Given the description of an element on the screen output the (x, y) to click on. 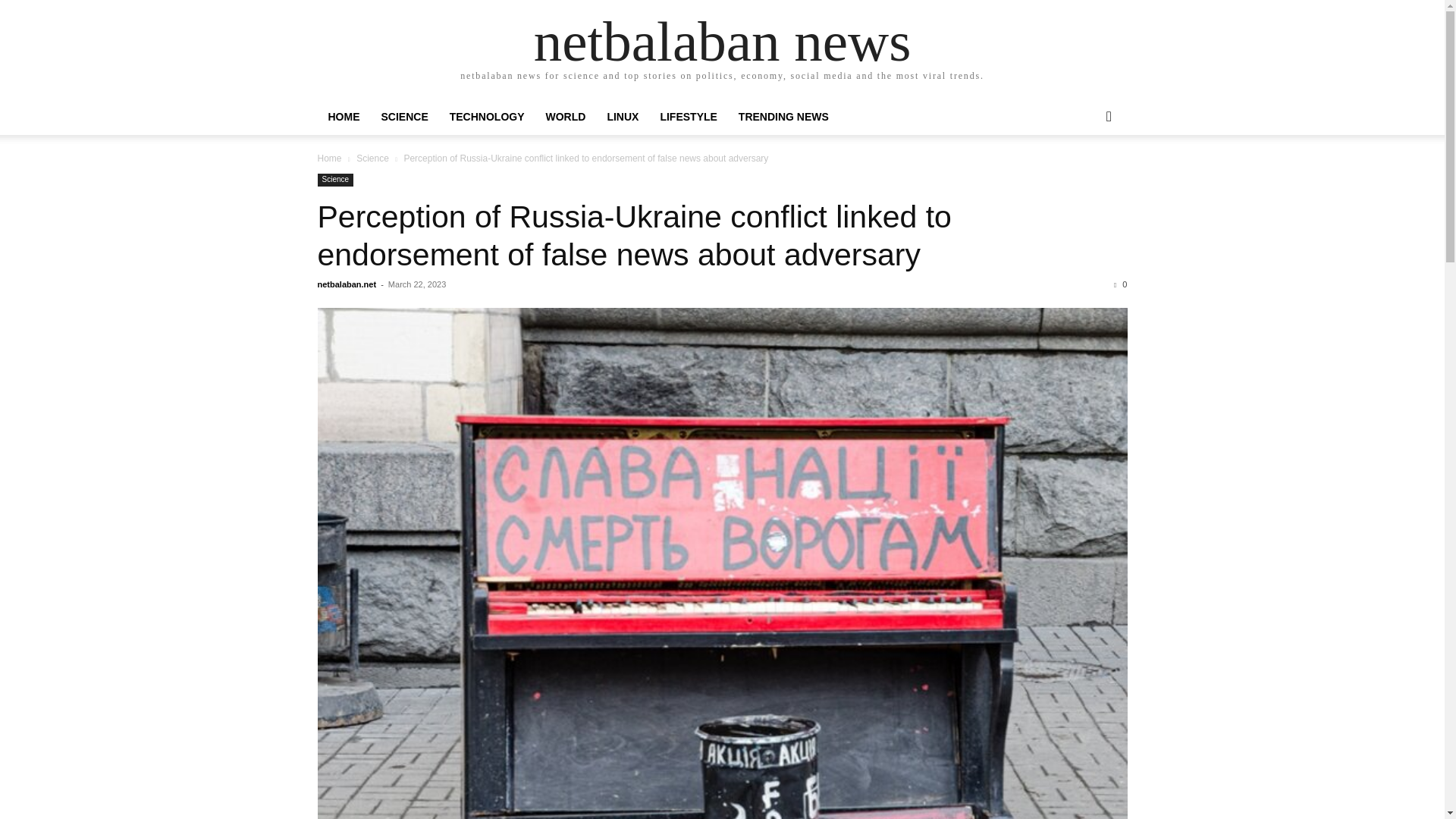
TECHNOLOGY (487, 116)
Search (1085, 177)
LIFESTYLE (687, 116)
Science (335, 179)
Home (328, 158)
LINUX (622, 116)
TRENDING NEWS (784, 116)
WORLD (565, 116)
